Given the description of an element on the screen output the (x, y) to click on. 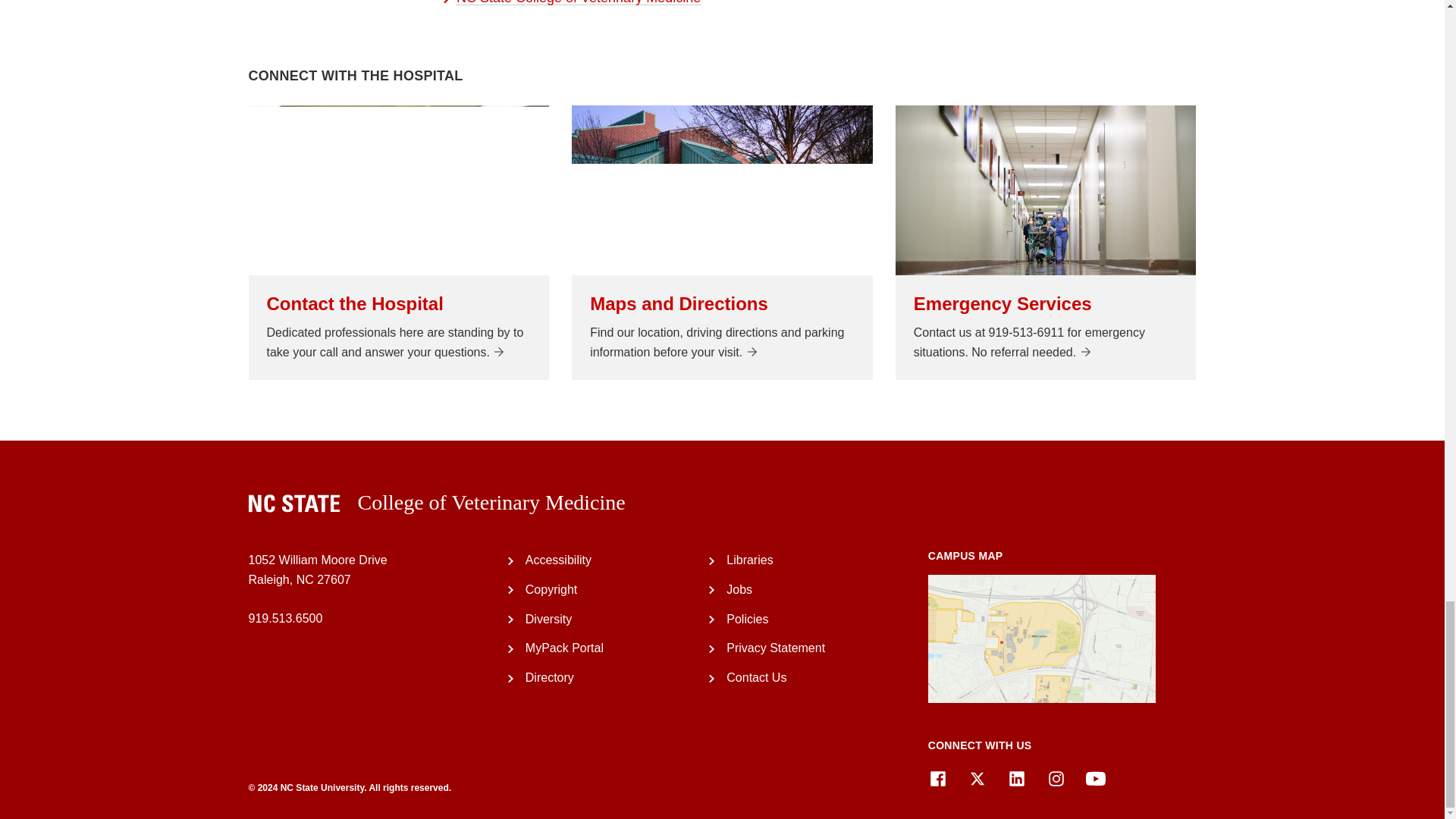
X (977, 778)
LinkedIn (1016, 778)
YouTube (1095, 778)
Facebook (937, 778)
Instagram (1055, 778)
